Given the description of an element on the screen output the (x, y) to click on. 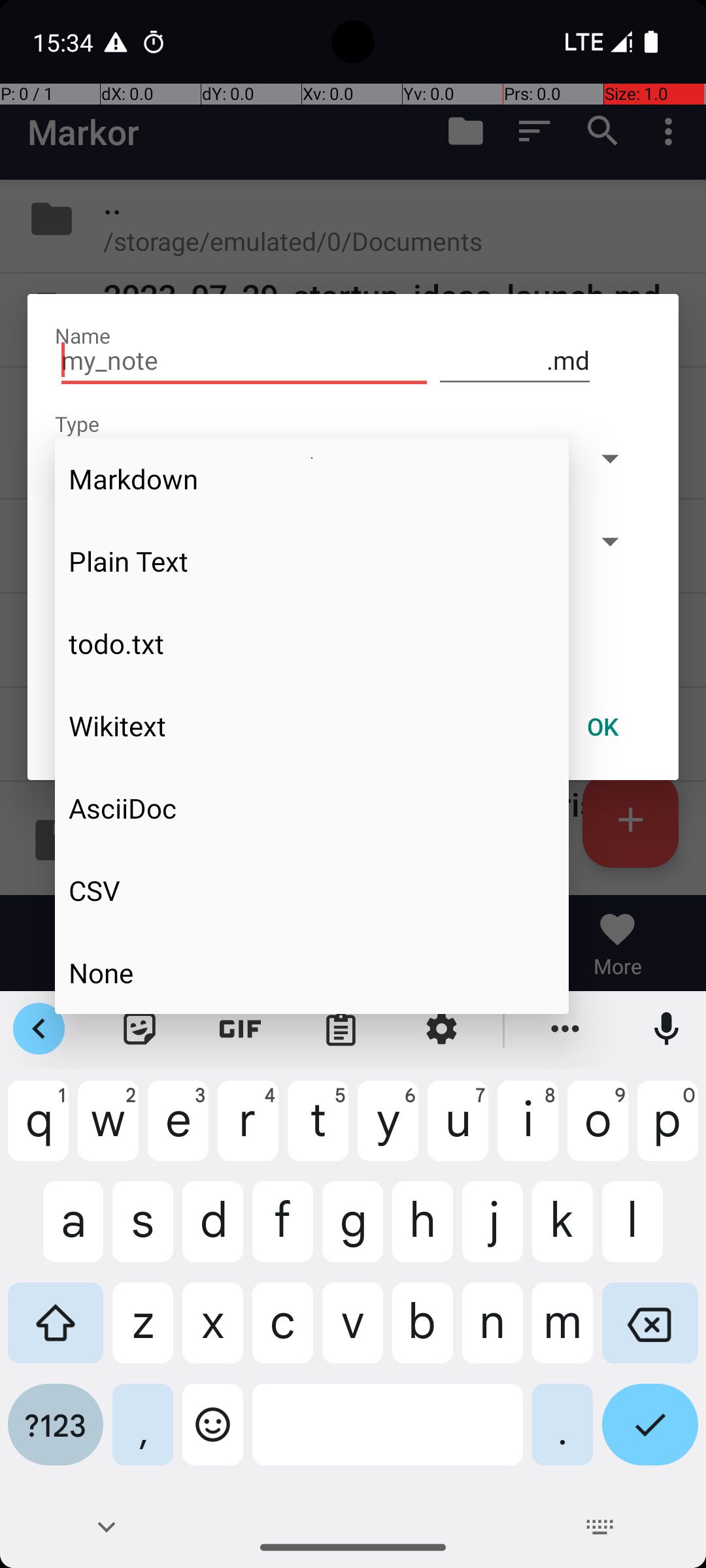
Markdown Element type: android.widget.TextView (311, 478)
Plain Text Element type: android.widget.TextView (311, 561)
todo.txt Element type: android.widget.TextView (311, 643)
Wikitext Element type: android.widget.TextView (311, 725)
AsciiDoc Element type: android.widget.TextView (311, 808)
CSV Element type: android.widget.TextView (311, 890)
None Element type: android.widget.TextView (311, 972)
